Given the description of an element on the screen output the (x, y) to click on. 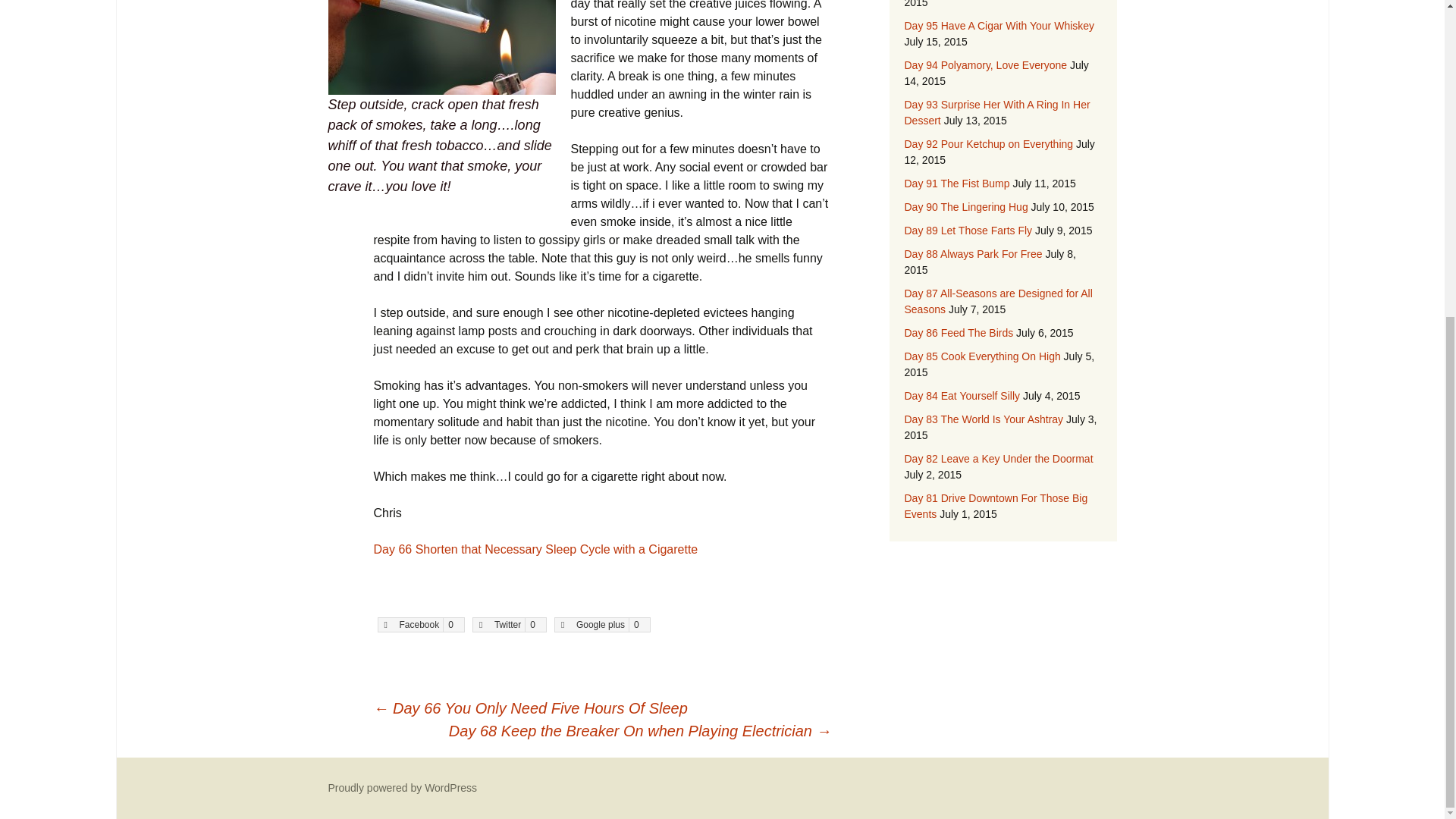
Facebook0 (420, 624)
Day 85 Cook Everything On High (981, 356)
Day 91 The Fist Bump (956, 183)
Day 95 Have A Cigar With Your Whiskey (999, 25)
Day 86 Feed The Birds (958, 332)
Proudly powered by WordPress (402, 787)
Day 89 Let Those Farts Fly (968, 230)
Day 93 Surprise Her With A Ring In Her Dessert (996, 112)
Day 94 Polyamory, Love Everyone (985, 64)
Google plus0 (602, 624)
Day 82 Leave a Key Under the Doormat (998, 458)
Day 66 Shorten that Necessary Sleep Cycle with a Cigarette (534, 549)
Day 84 Eat Yourself Silly (962, 395)
Day 88 Always Park For Free (973, 254)
Day 92 Pour Ketchup on Everything (988, 143)
